Given the description of an element on the screen output the (x, y) to click on. 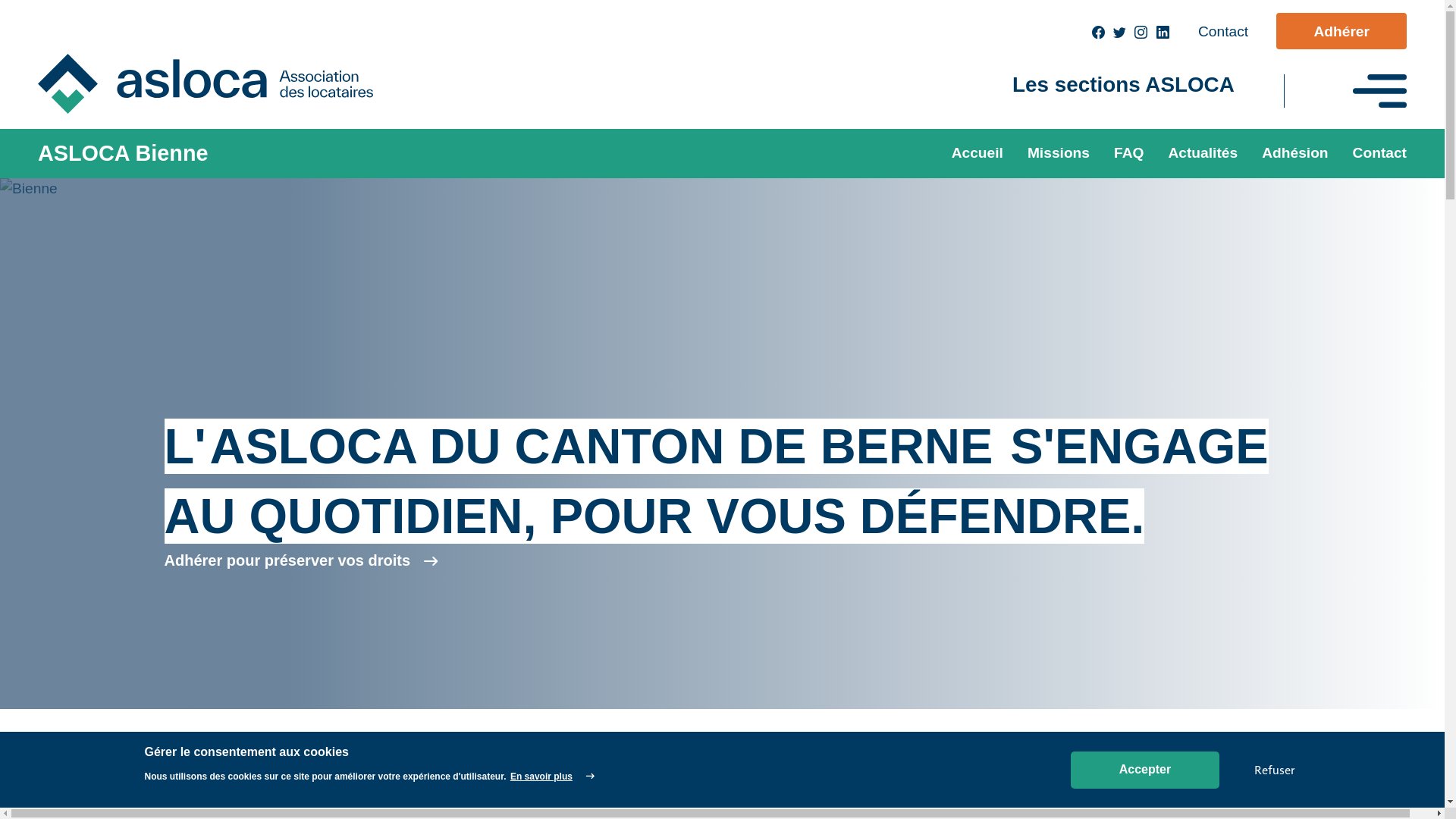
Home Element type: hover (217, 83)
Accepter Element type: text (1144, 770)
Contact Element type: text (1373, 153)
En savoir plus Element type: text (552, 776)
Refuser Element type: text (1274, 769)
Les sections ASLOCA Element type: text (1123, 84)
FAQ Element type: text (1128, 153)
Contact Element type: text (1223, 31)
Missions Element type: text (1058, 153)
Accueil Element type: text (977, 153)
